Given the description of an element on the screen output the (x, y) to click on. 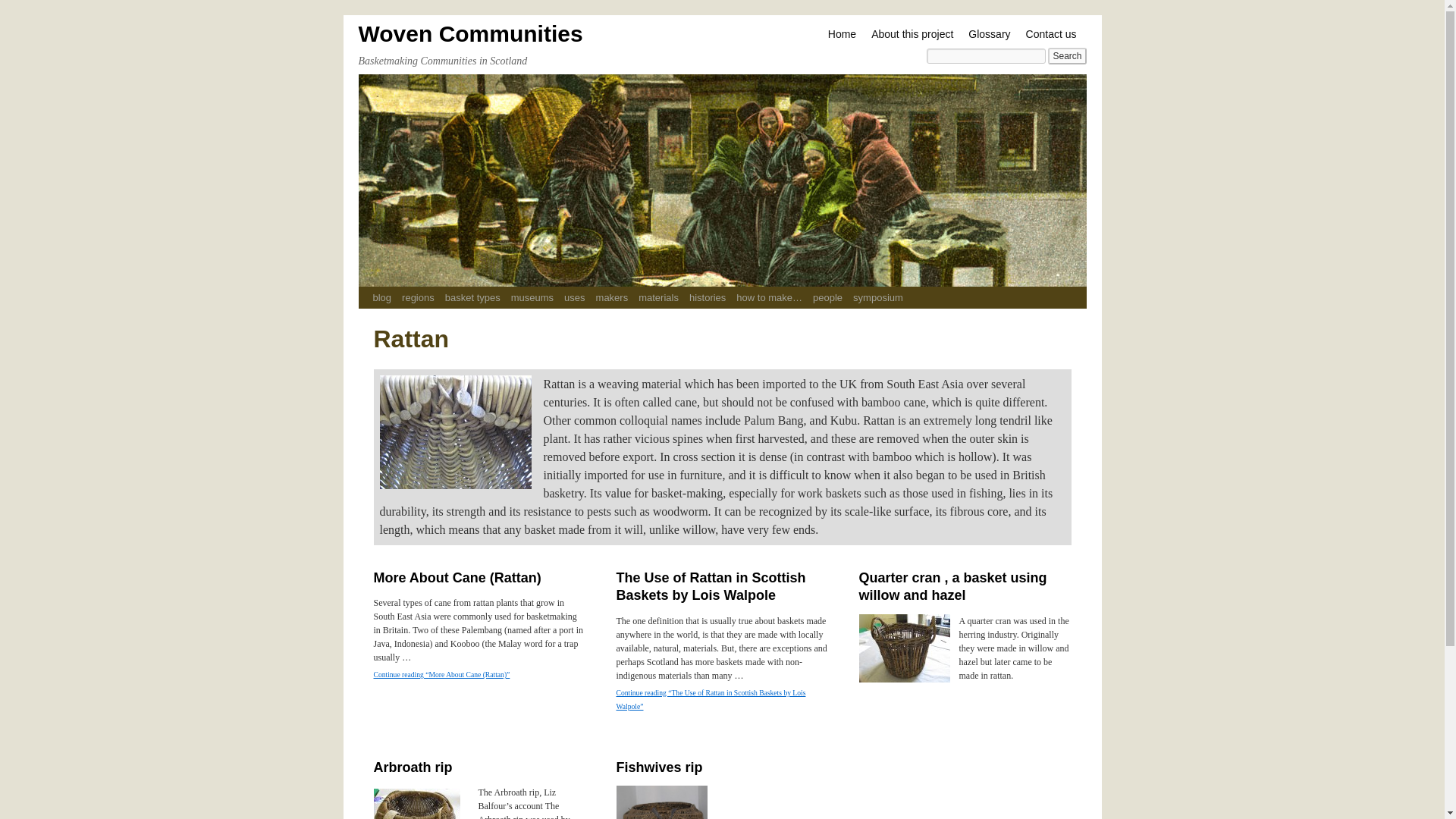
Glossary (988, 33)
symposium (877, 297)
Permalink to Fishwives rip (658, 767)
Home (841, 33)
Contact us (1050, 33)
Arbroath rip (411, 767)
people (827, 297)
Fishwives rip (658, 767)
Search (1067, 55)
